Given the description of an element on the screen output the (x, y) to click on. 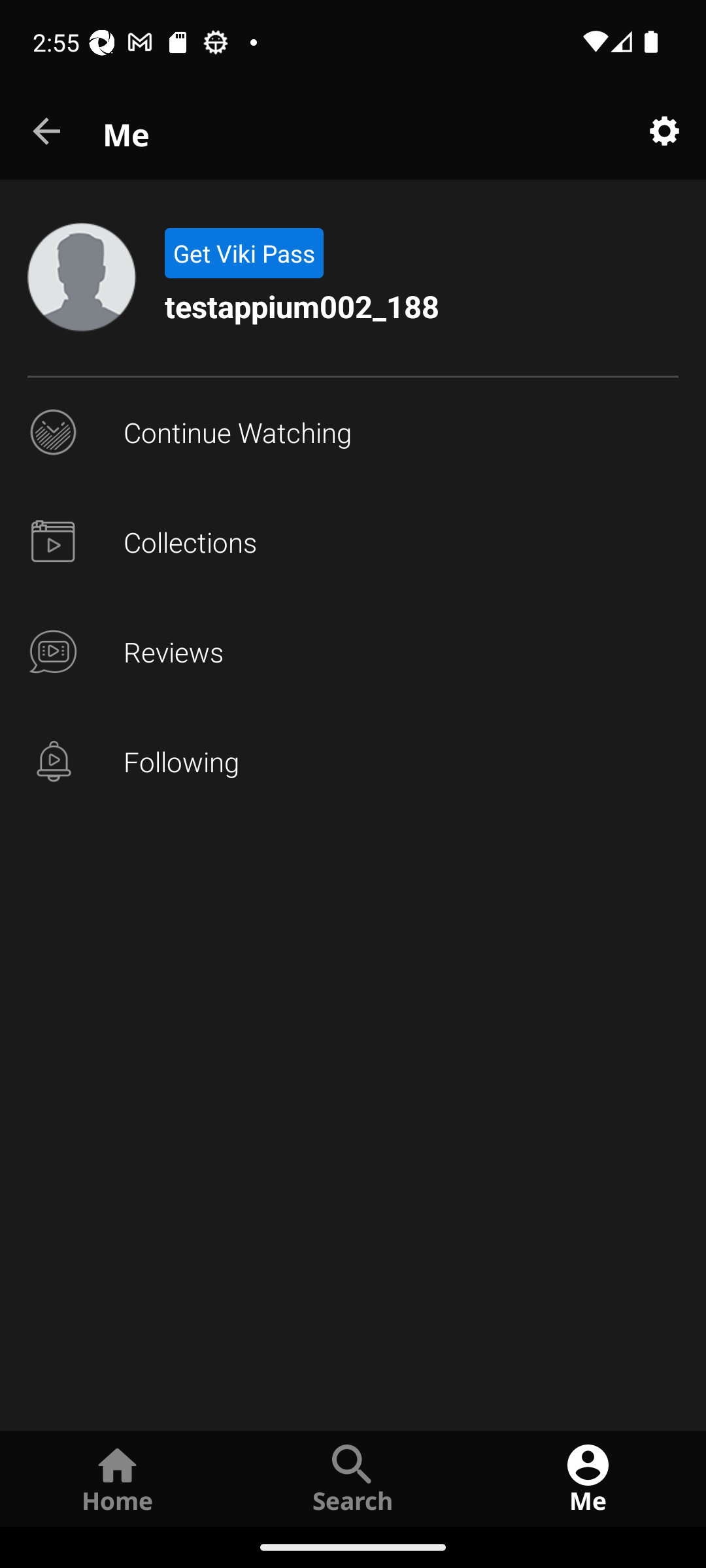
Navigate up (48, 131)
Settings (664, 131)
Get Viki Pass (243, 253)
Get Viki Pass (243, 253)
Continue Watching (353, 432)
profile_page_user_collections Collections (353, 542)
Reviews (353, 652)
Following (353, 761)
Home (117, 1478)
Search (352, 1478)
